Given the description of an element on the screen output the (x, y) to click on. 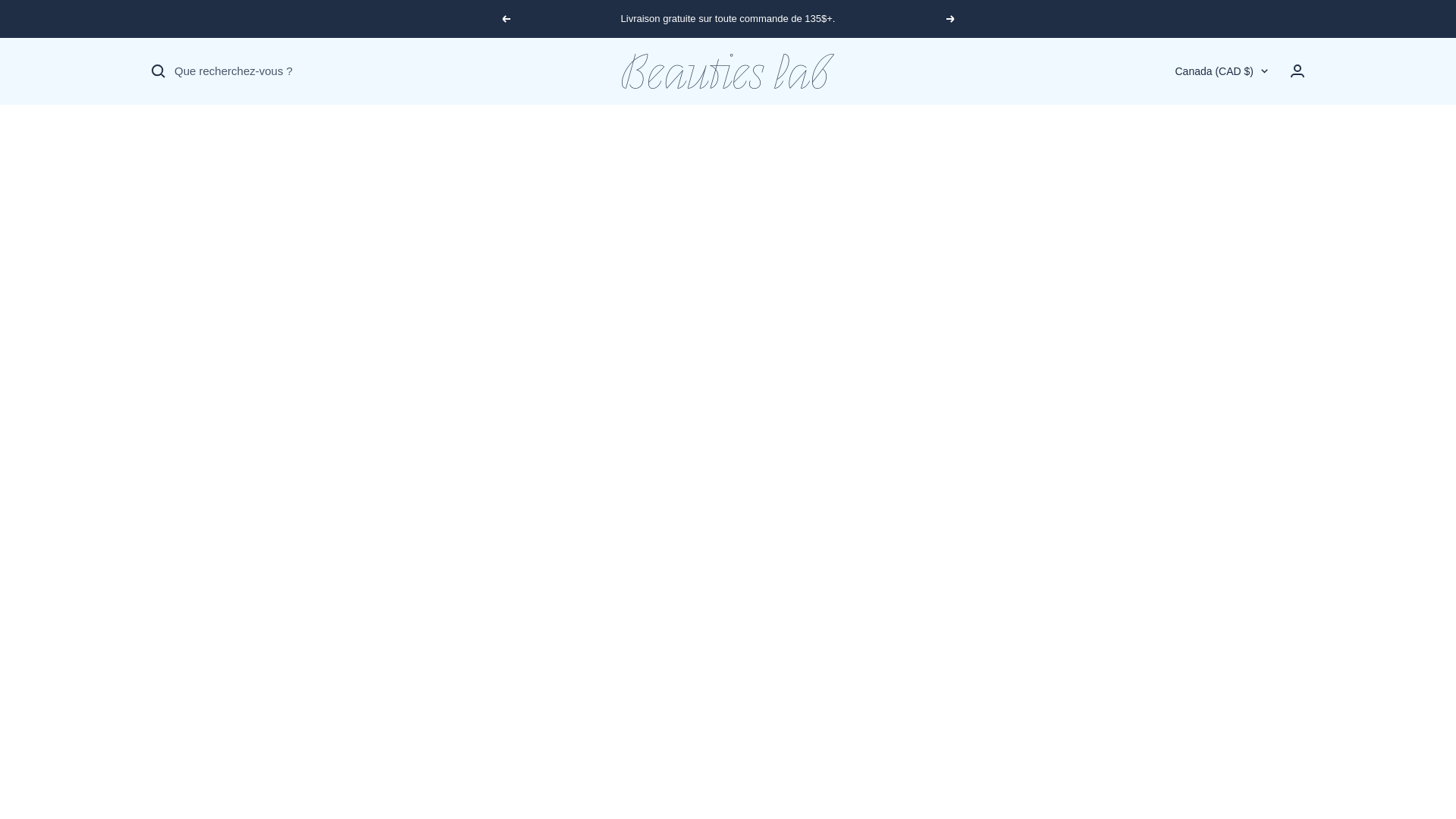
US (1206, 148)
Beauties Lab (727, 71)
CA (1206, 123)
Suivant (950, 18)
